Given the description of an element on the screen output the (x, y) to click on. 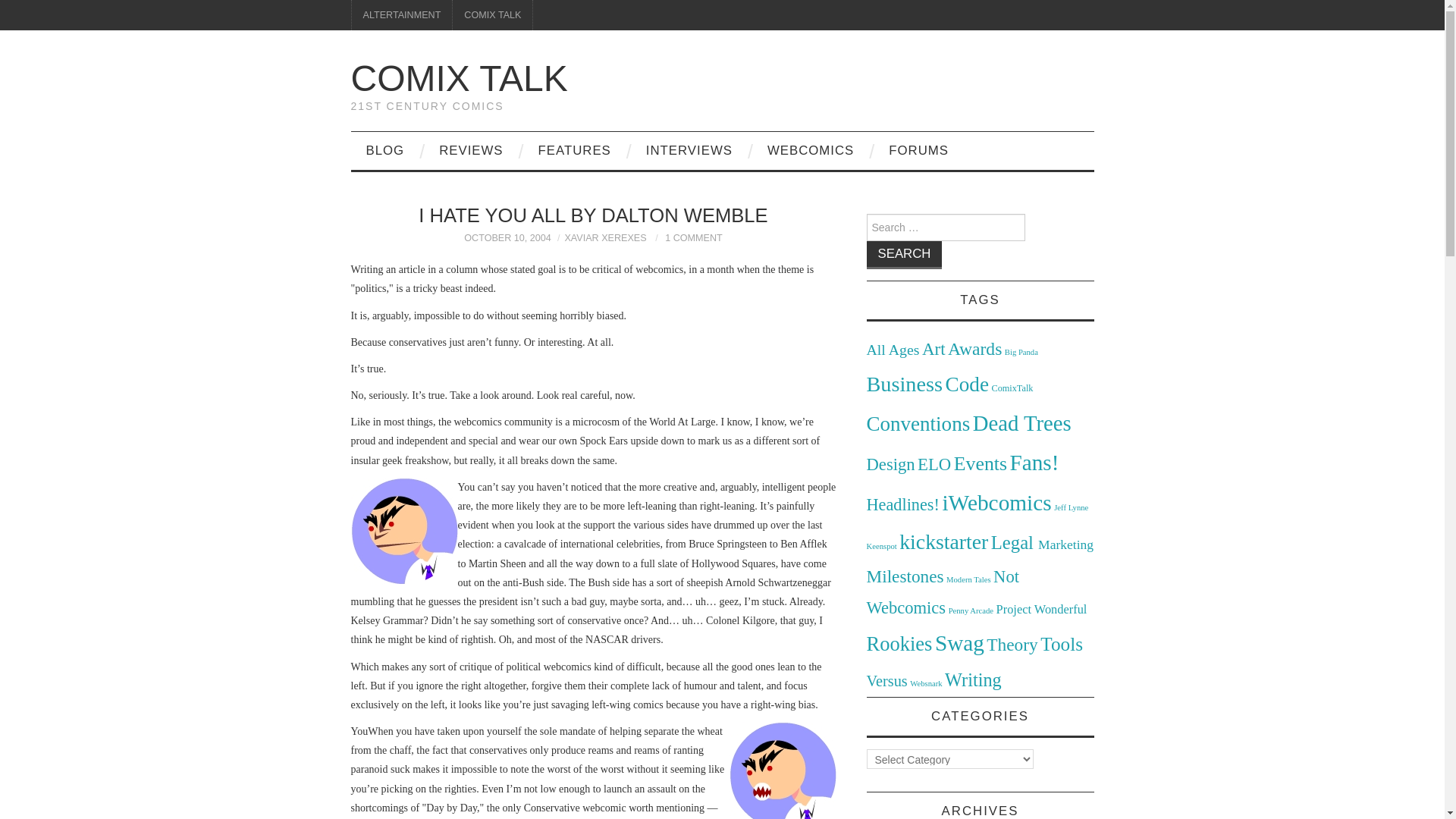
ELO (933, 464)
Events (980, 463)
Conventions (917, 423)
Keenspot (881, 546)
Art (932, 348)
Headlines! (902, 504)
1 COMMENT (693, 237)
WEBCOMICS (810, 150)
INTERVIEWS (689, 150)
ALTERTAINMENT (402, 15)
